Given the description of an element on the screen output the (x, y) to click on. 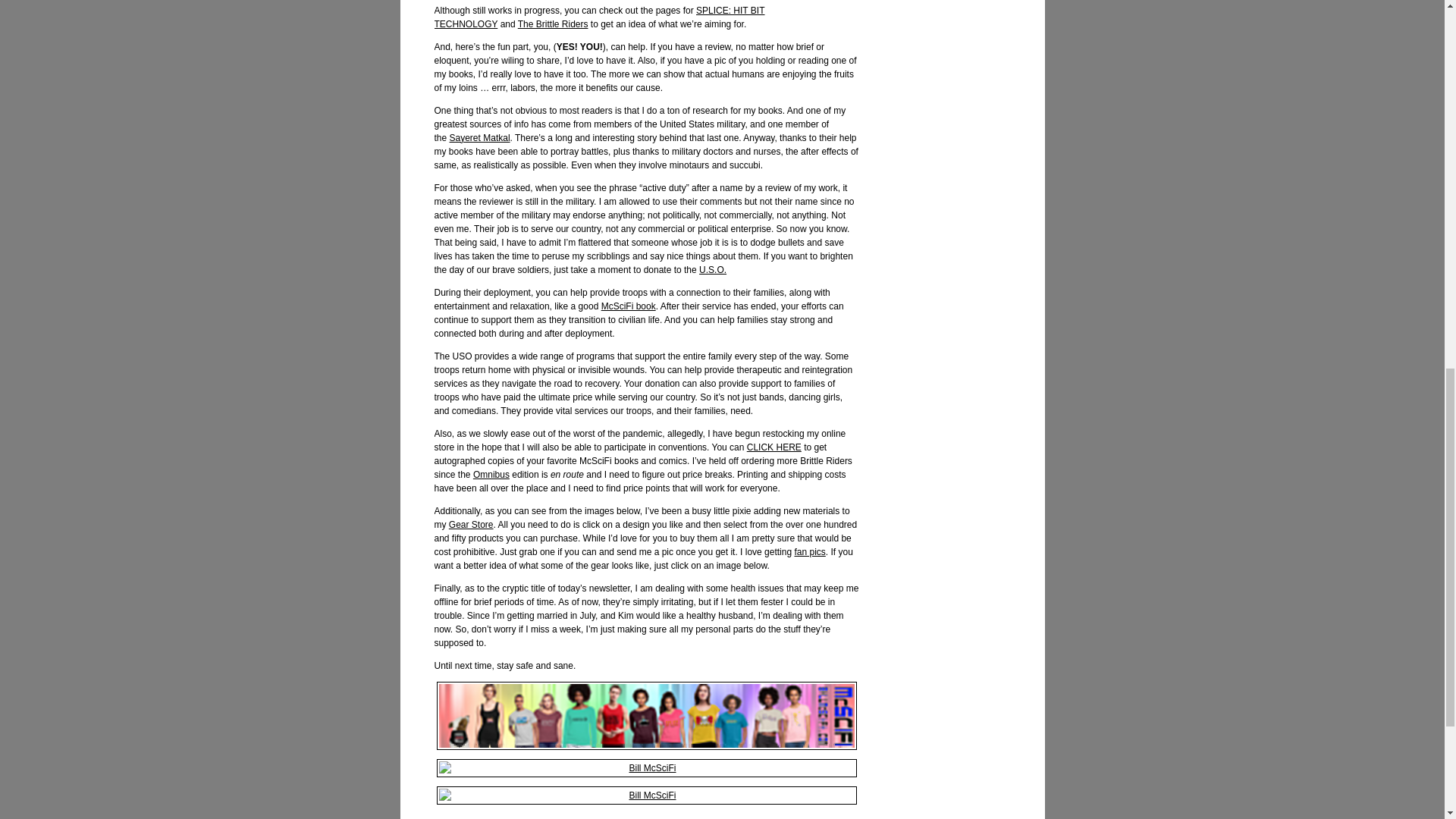
Sayeret Matkal (480, 137)
fan pics (809, 552)
The Brittle Riders (553, 23)
SPLICE: HIT BIT TECHNOLOGY (598, 16)
McSciFi book (628, 306)
Omnibus (491, 474)
Gear Store (470, 524)
CLICK HERE (774, 447)
U.S.O. (712, 269)
